Given the description of an element on the screen output the (x, y) to click on. 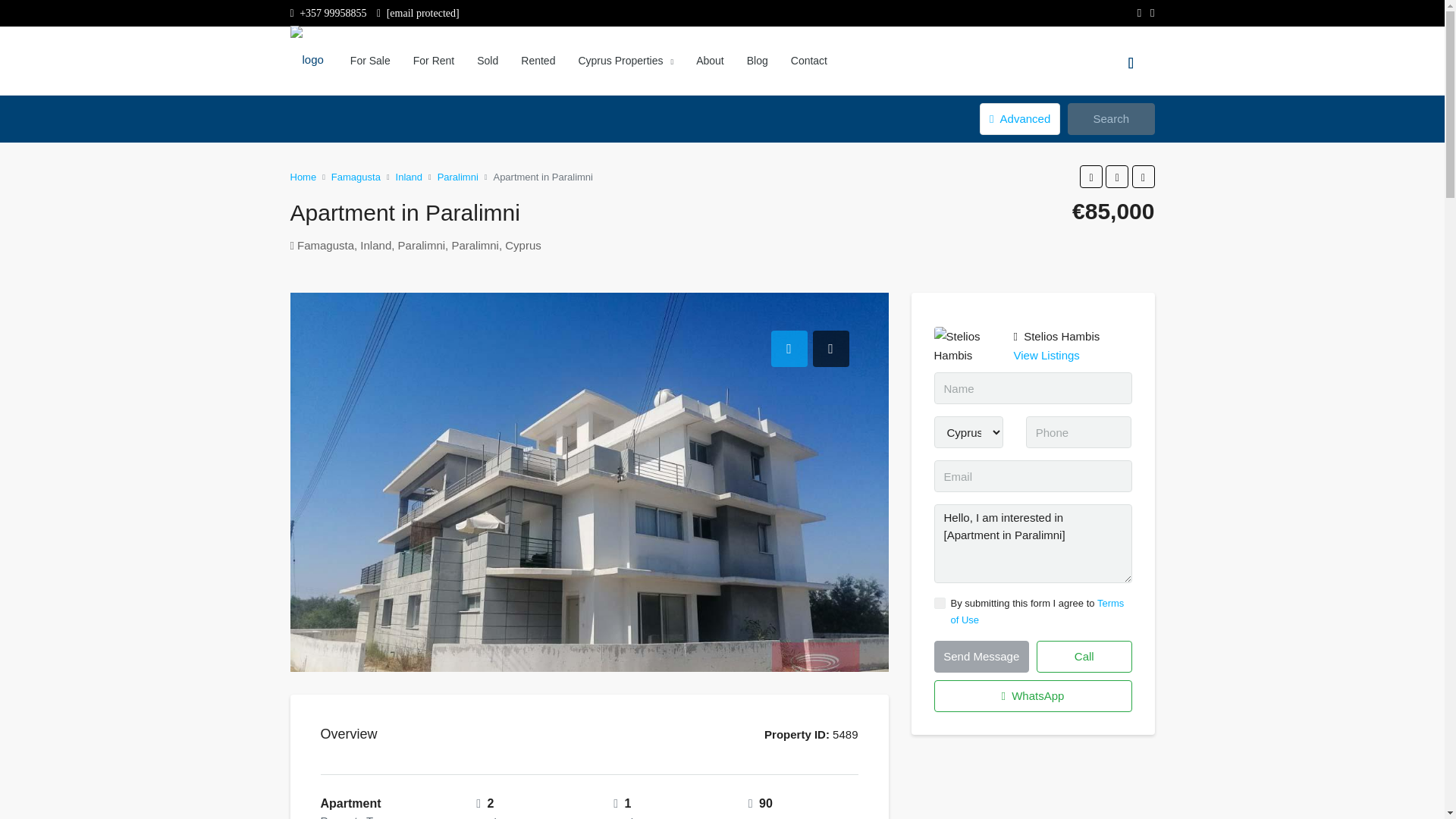
Search (1110, 119)
For Rent (433, 60)
For Sale (370, 60)
Advanced (1019, 119)
Home (302, 176)
Cyprus Properties (625, 61)
Famagusta (355, 176)
